Given the description of an element on the screen output the (x, y) to click on. 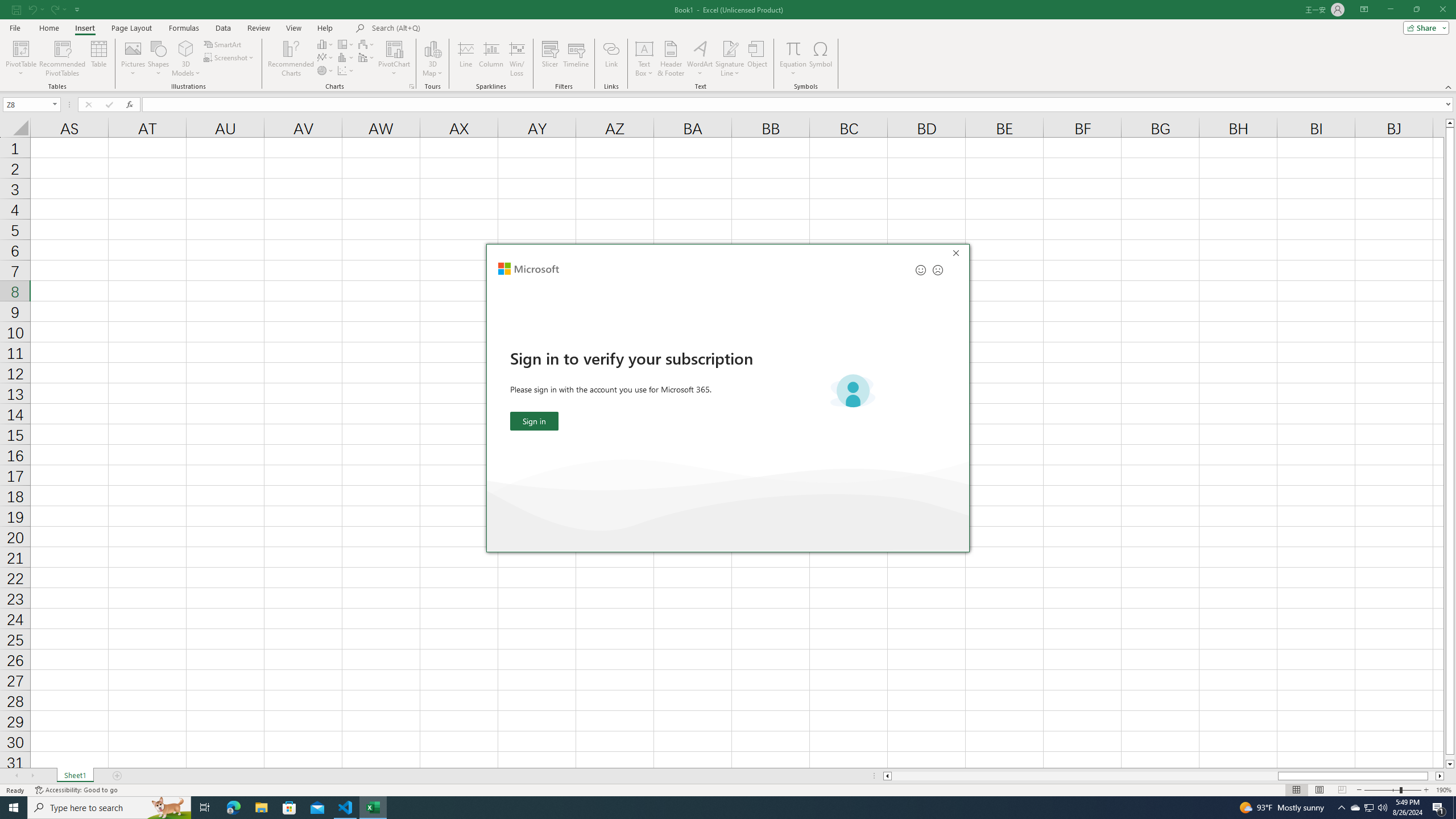
Signature Line (729, 58)
PivotTable (20, 48)
Insert Line or Area Chart (325, 56)
Accessibility Checker Accessibility: Good to go (76, 790)
3D Models (186, 48)
Search highlights icon opens search home window (167, 807)
Ribbon Display Options (1364, 9)
Signature Line (729, 48)
Slicer... (550, 58)
View (293, 28)
Q2790: 100% (1382, 807)
Insert Column or Bar Chart (325, 44)
Formulas (184, 28)
